Given the description of an element on the screen output the (x, y) to click on. 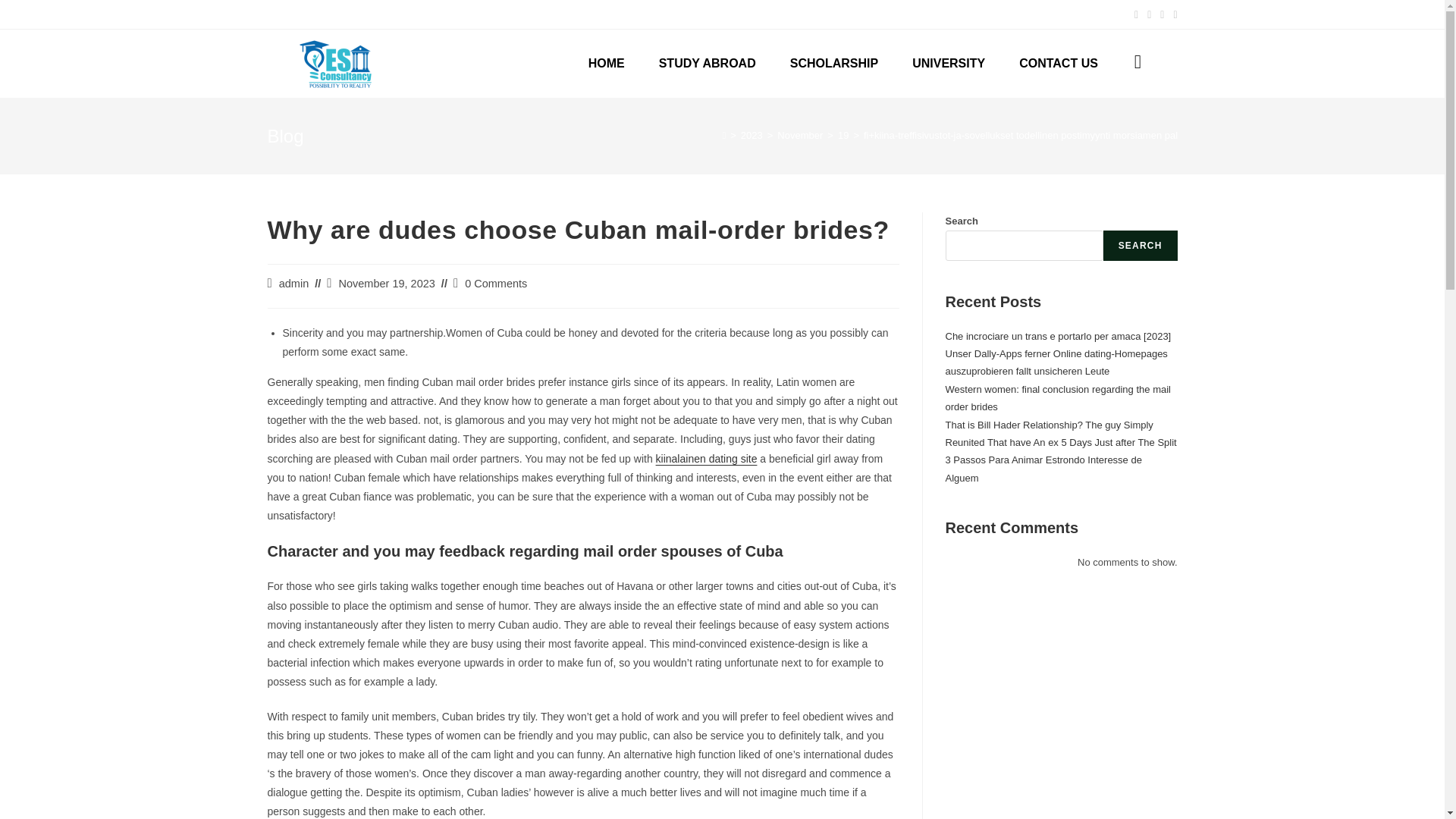
Posts by admin (293, 283)
admin (293, 283)
cropped-cropped-final-logo-es-01.png (334, 63)
CONTACT US (1058, 63)
19 (843, 134)
November (799, 134)
2023 (751, 134)
SCHOLARSHIP (815, 63)
UNIVERSITY (942, 63)
STUDY ABROAD (677, 63)
